Given the description of an element on the screen output the (x, y) to click on. 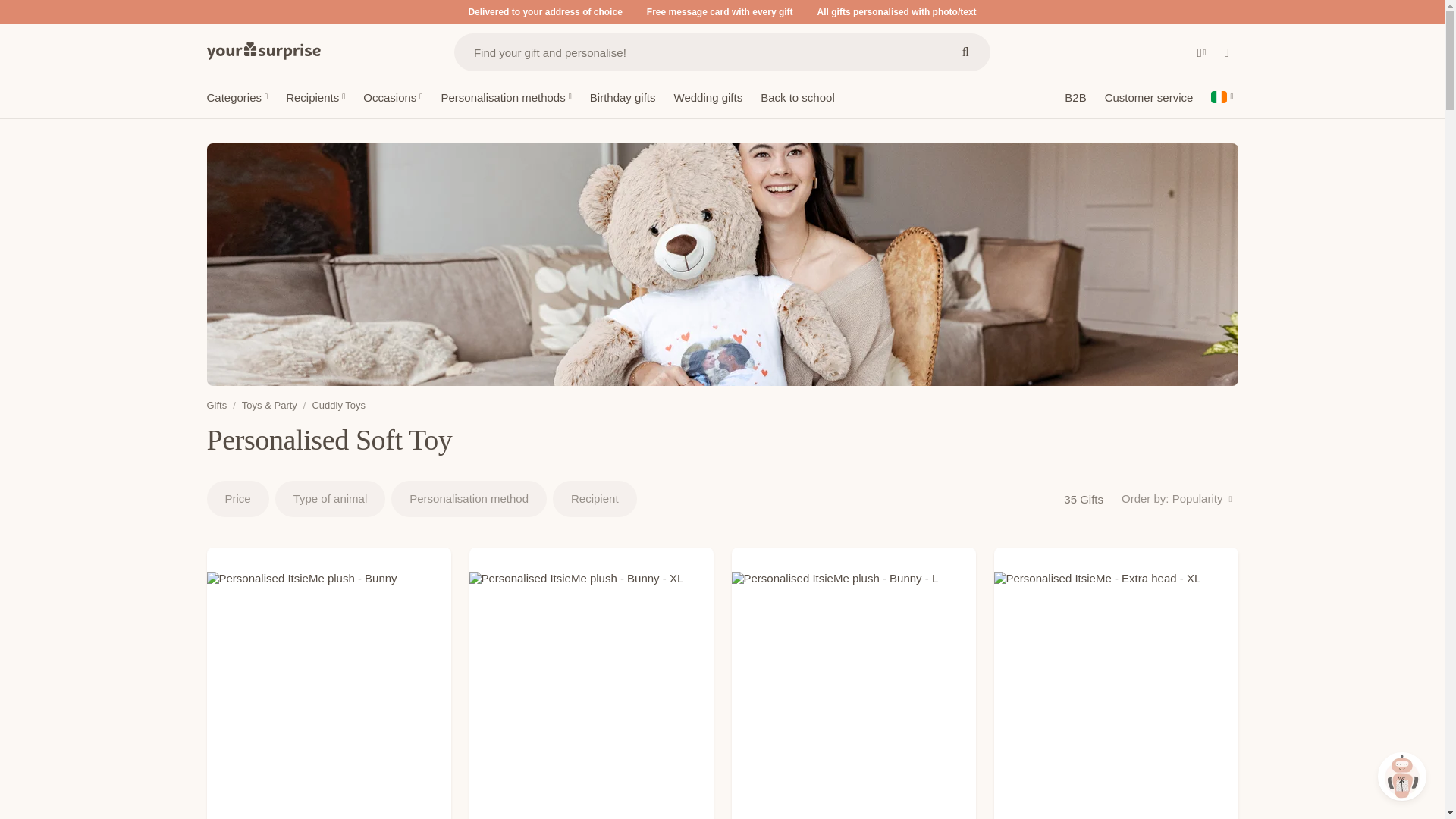
ItsieMe - Bunny - XL (590, 683)
ItsieMe - Bunny - L (852, 683)
ItsieMe - Extra head - XL (1114, 683)
YourSurprise (263, 50)
ItsieMe - Bunny (327, 683)
Categories (236, 98)
